Given the description of an element on the screen output the (x, y) to click on. 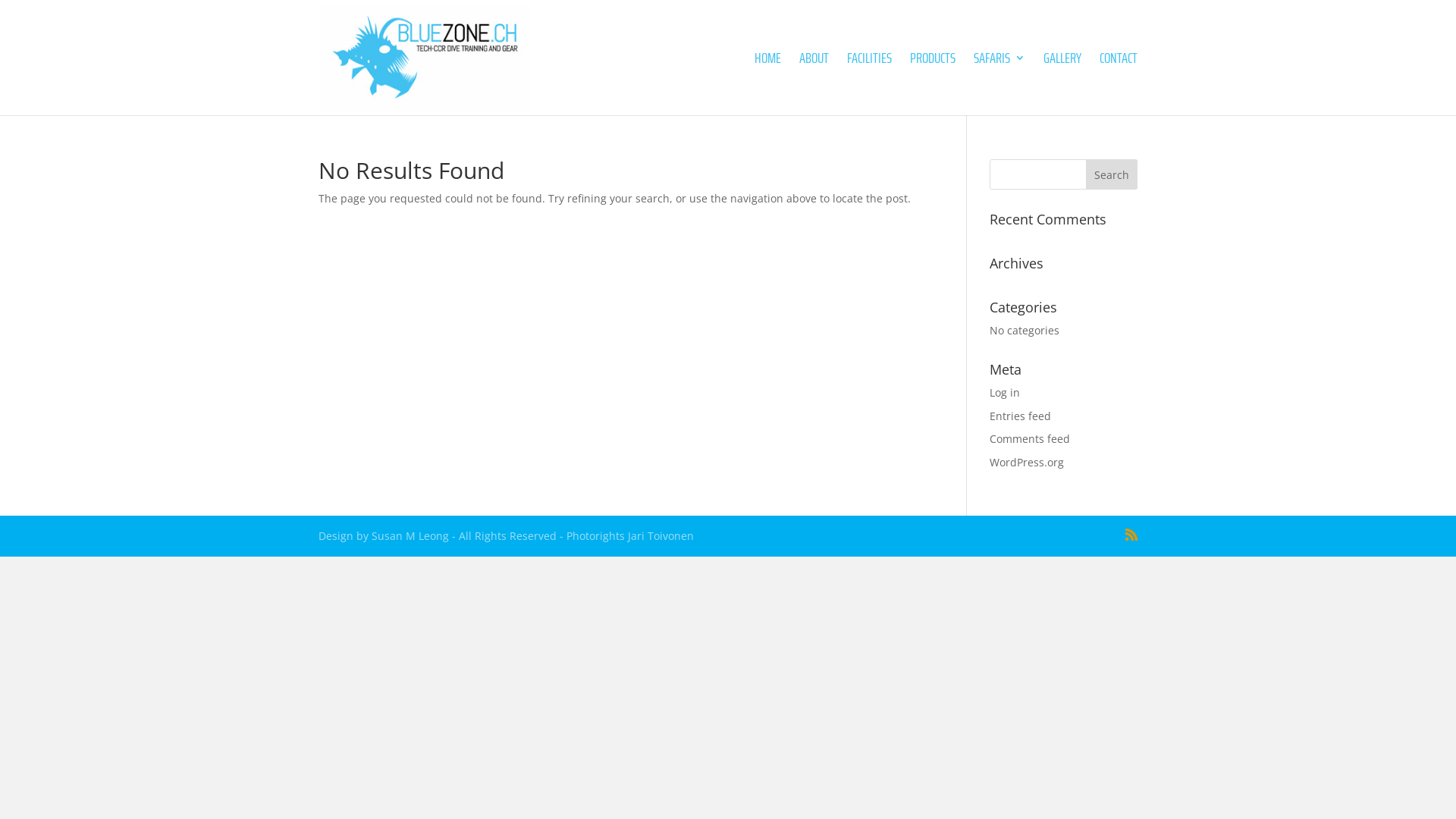
SAFARIS Element type: text (999, 83)
WordPress.org Element type: text (1026, 462)
Log in Element type: text (1004, 392)
FACILITIES Element type: text (869, 83)
PRODUCTS Element type: text (932, 83)
ABOUT Element type: text (813, 83)
GALLERY Element type: text (1062, 83)
CONTACT Element type: text (1118, 83)
Search Element type: text (1111, 174)
Comments feed Element type: text (1029, 438)
HOME Element type: text (767, 83)
Entries feed Element type: text (1020, 415)
